Given the description of an element on the screen output the (x, y) to click on. 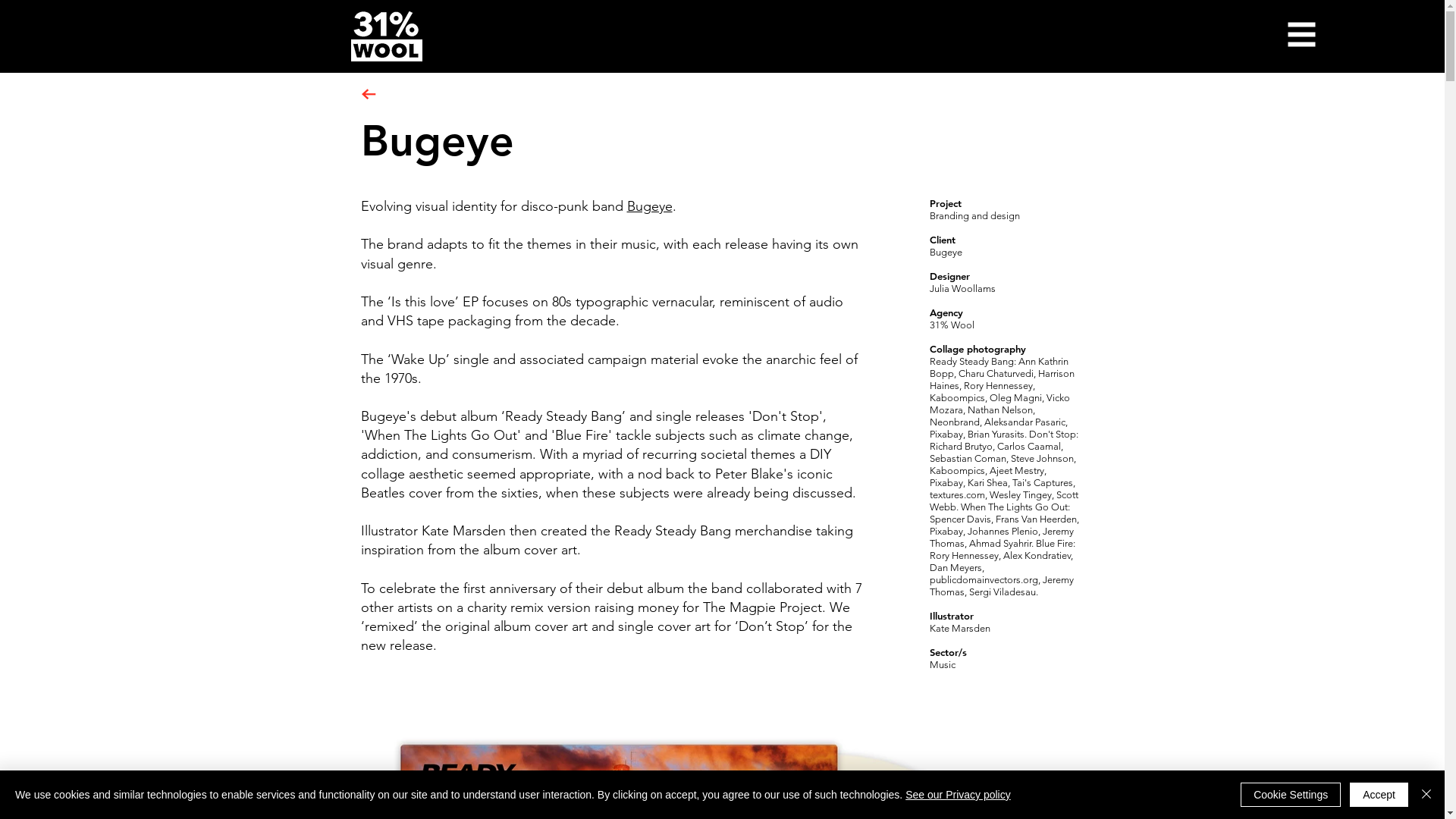
Cookie Settings Element type: text (1290, 794)
Accept Element type: text (1378, 794)
Bugeye Element type: text (648, 205)
See our Privacy policy Element type: text (957, 794)
